Given the description of an element on the screen output the (x, y) to click on. 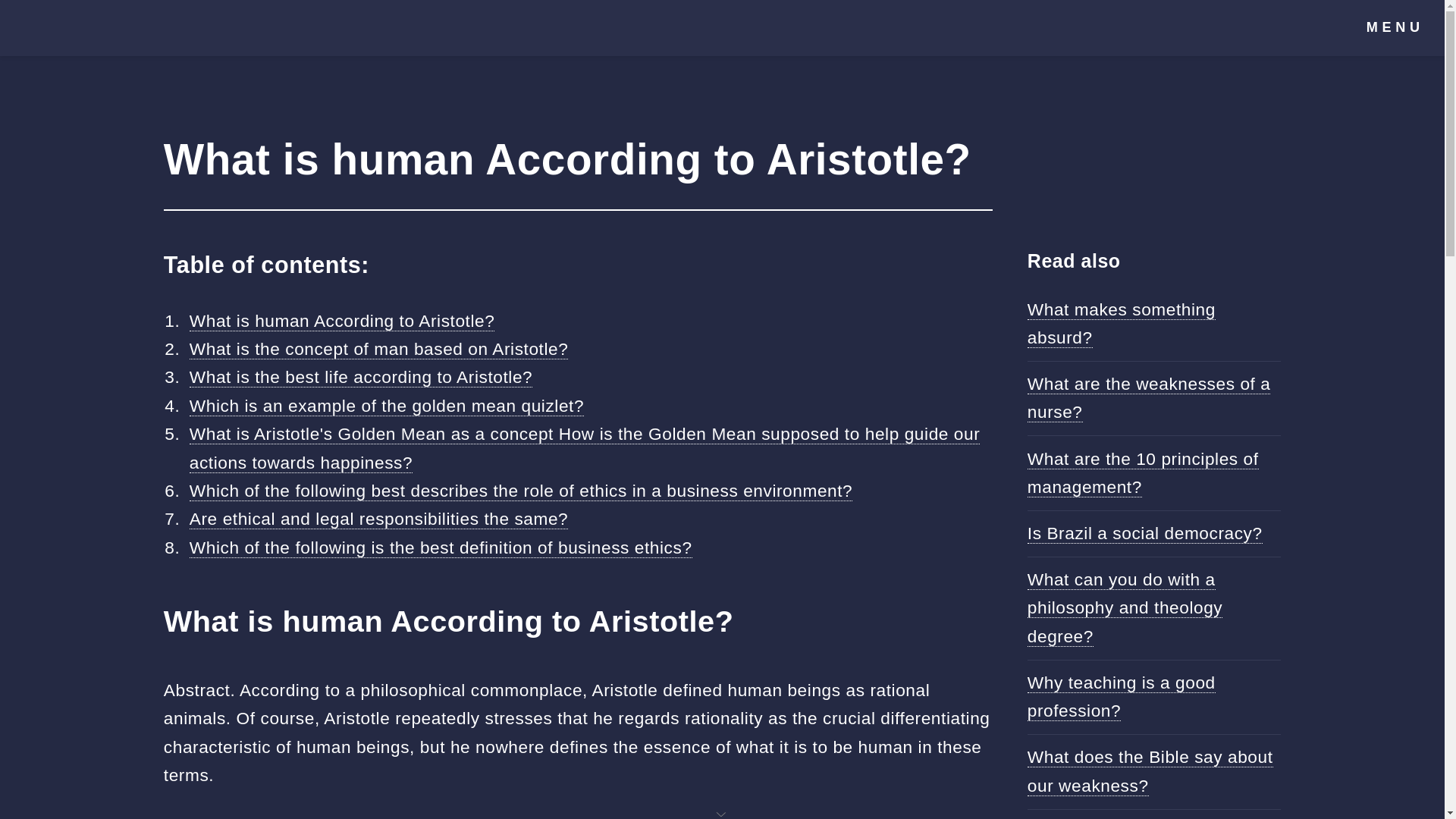
Are ethical and legal responsibilities the same? (378, 518)
What is human According to Aristotle? (342, 321)
Which is an example of the golden mean quizlet? (386, 405)
Is Brazil a social democracy? (1144, 533)
What is the best life according to Aristotle? (360, 376)
What is the concept of man based on Aristotle? (379, 349)
What are the weaknesses of a nurse? (1149, 397)
Ad.Plus Advertising (722, 813)
